Given the description of an element on the screen output the (x, y) to click on. 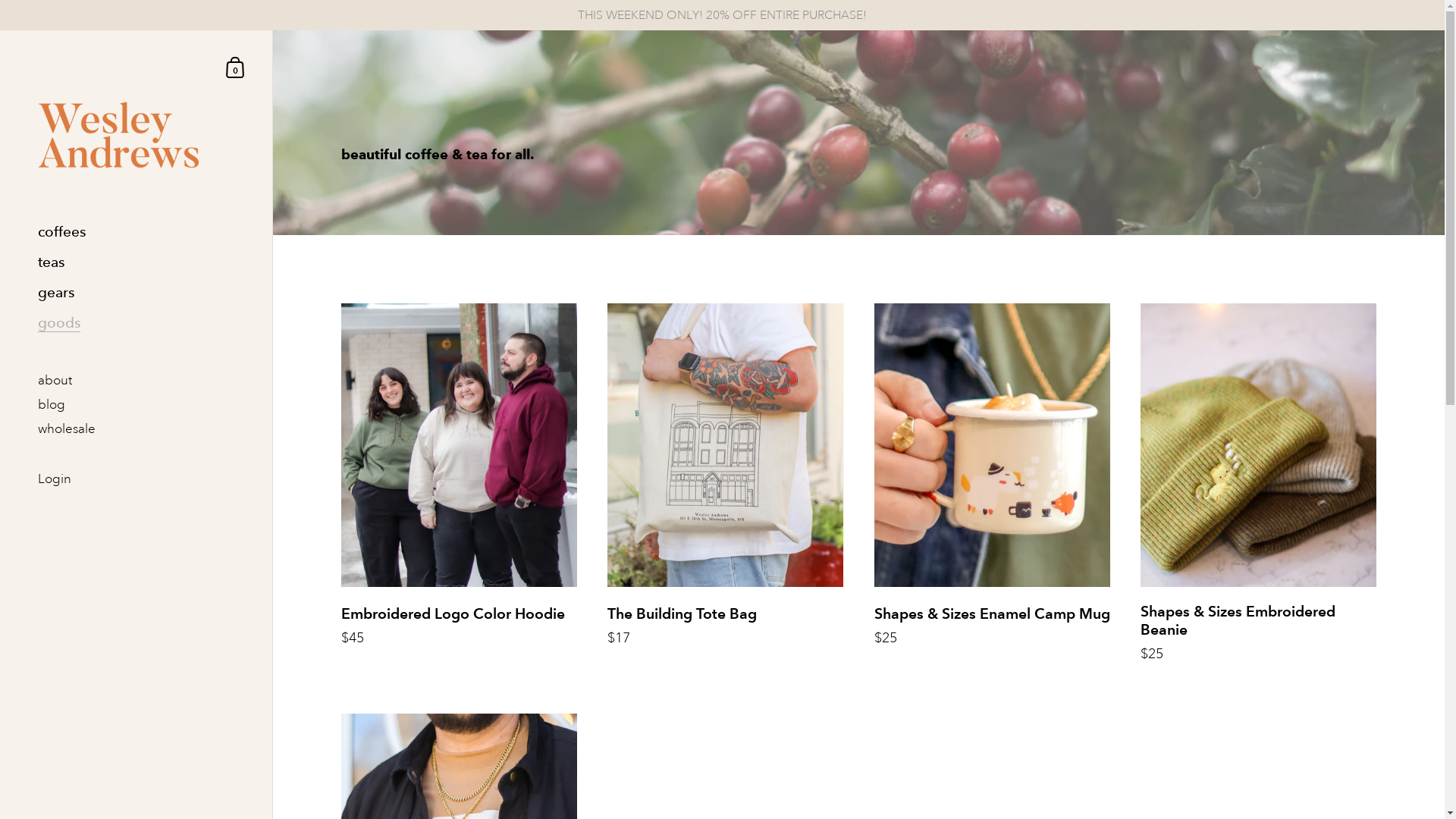
wholesale Element type: text (136, 429)
Shapes & Sizes Enamel Camp Mug
$25 Element type: text (991, 493)
blog Element type: text (136, 404)
Shopping Cart
0 Element type: text (235, 66)
about Element type: text (136, 380)
The Building Tote Bag
$17 Element type: text (725, 493)
Embroidered Logo Color Hoodie
$45 Element type: text (459, 493)
Shapes & Sizes Embroidered Beanie
$25 Element type: text (1258, 493)
Login Element type: text (136, 480)
Skip to content Element type: text (0, 30)
teas Element type: text (136, 262)
goods Element type: text (136, 322)
coffees Element type: text (136, 231)
gears Element type: text (136, 292)
